Given the description of an element on the screen output the (x, y) to click on. 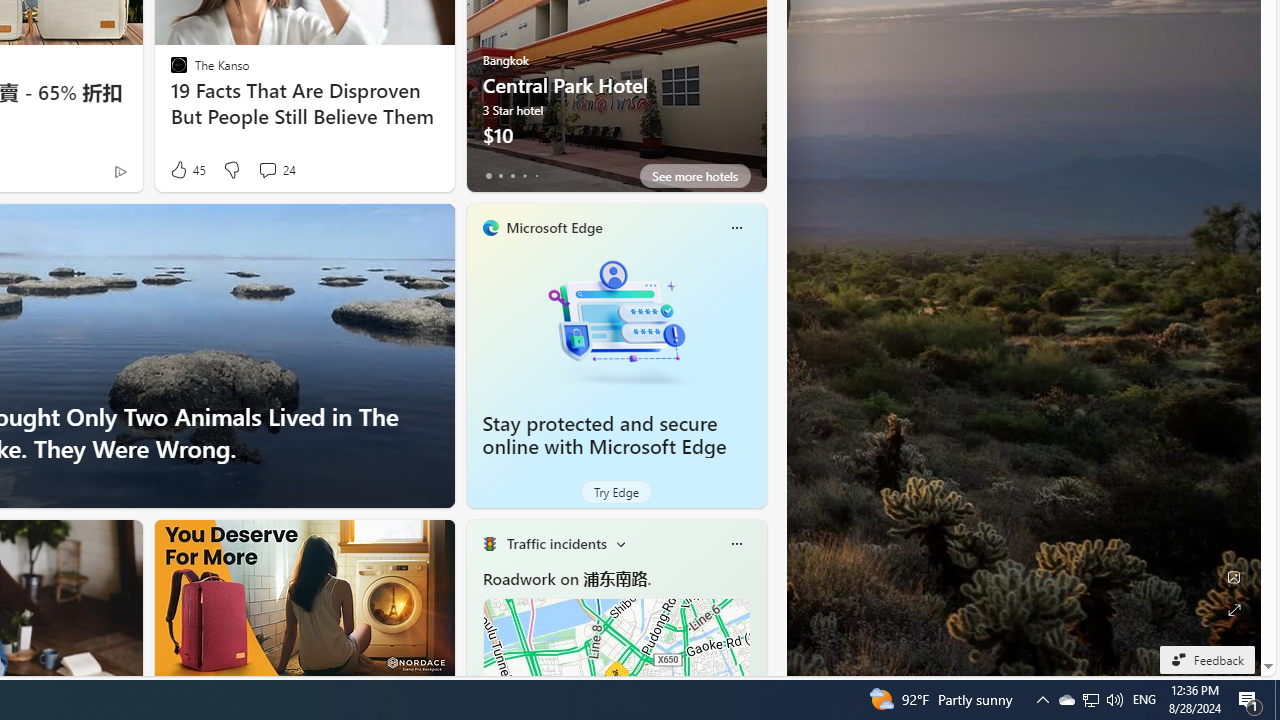
Stay protected and secure online with Microsoft Edge (616, 321)
Change scenarios (620, 543)
tab-2 (511, 175)
Edit Background (1233, 577)
Try Edge (616, 491)
tab-4 (535, 175)
View comments 24 Comment (276, 170)
View comments 24 Comment (267, 169)
